Given the description of an element on the screen output the (x, y) to click on. 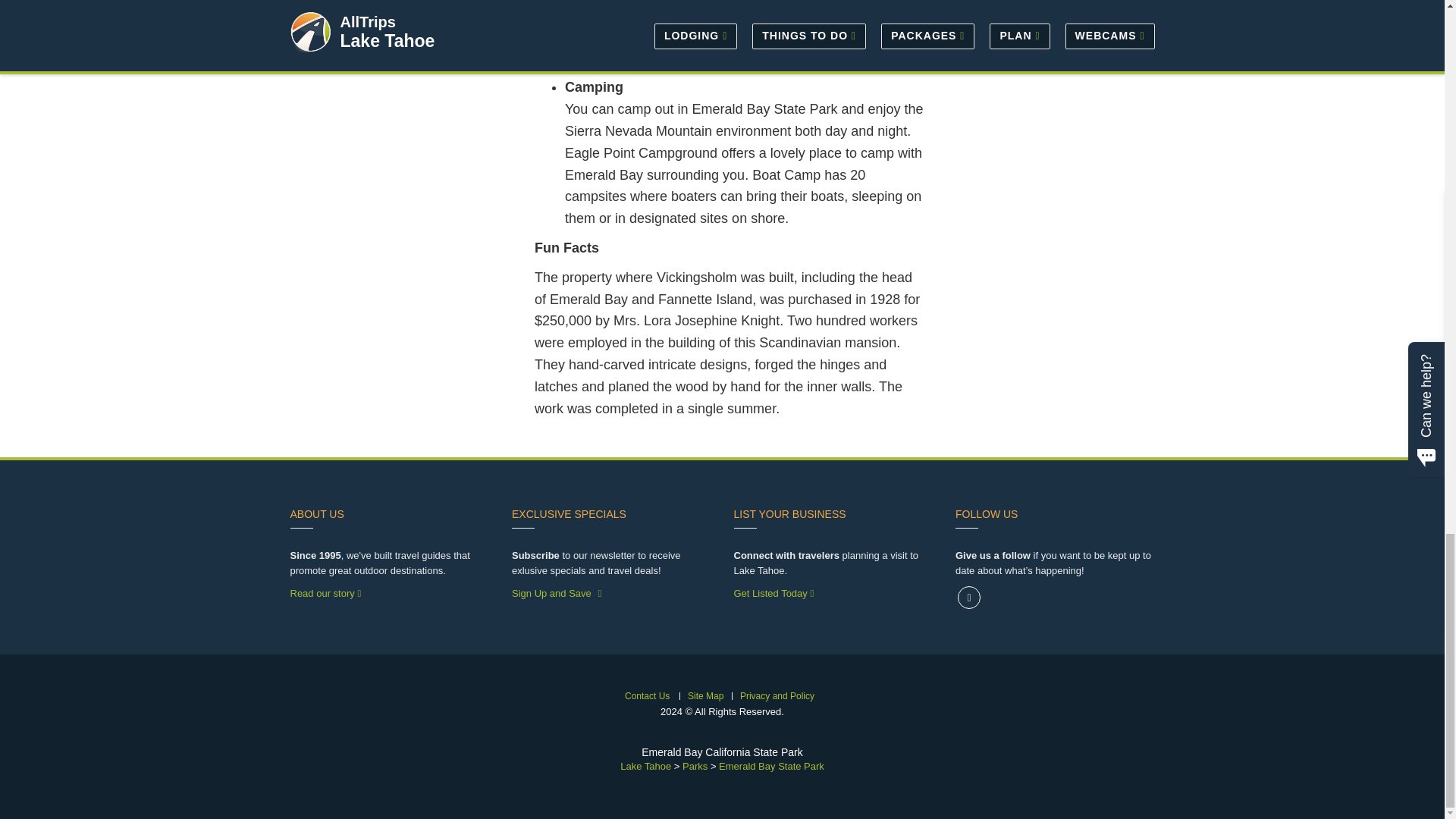
Emerald Bay State Park (771, 766)
Parks (694, 766)
Lake Tahoe (645, 766)
